Given the description of an element on the screen output the (x, y) to click on. 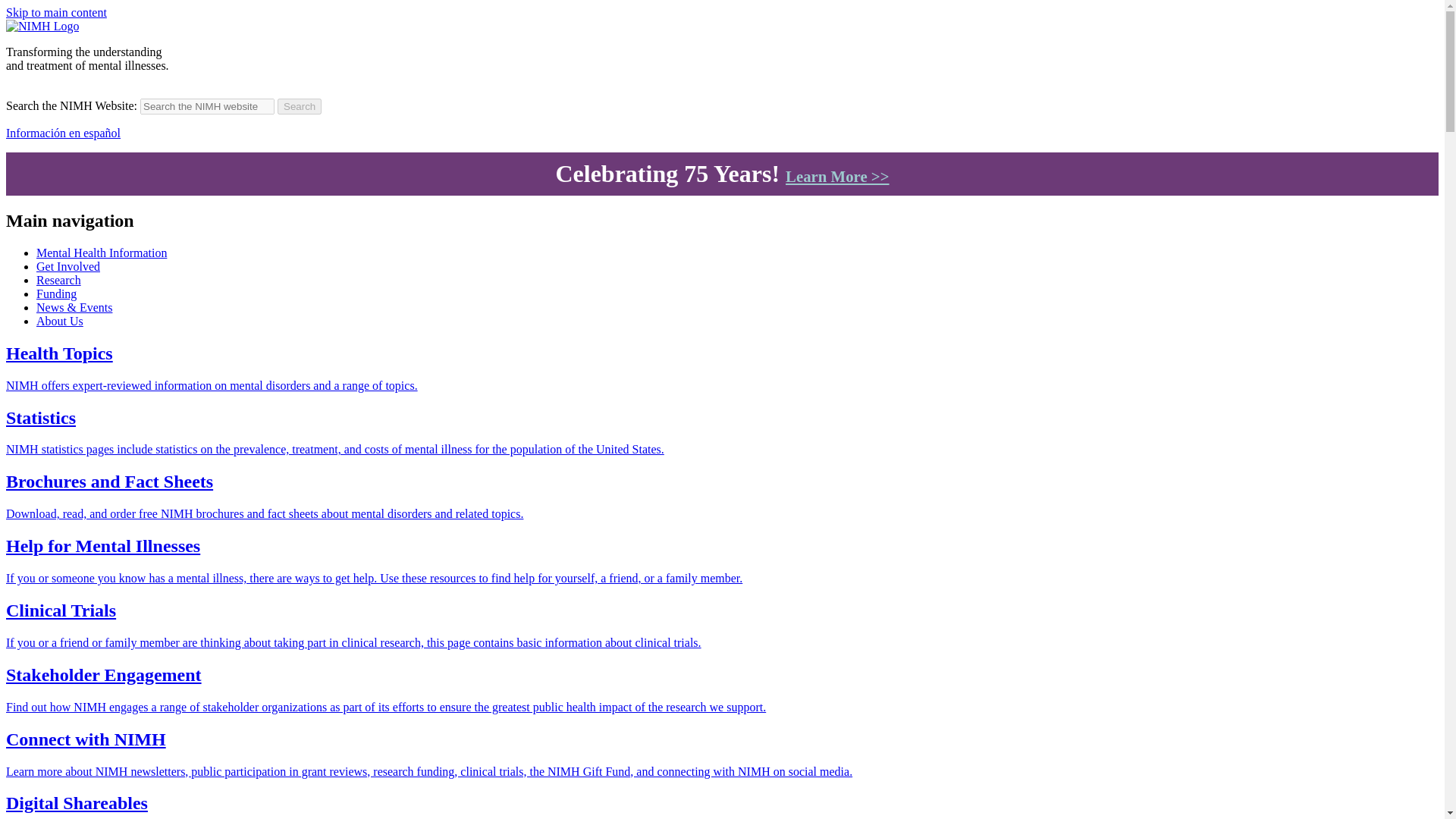
Search (299, 106)
NIMH Home (41, 25)
Research (58, 279)
Get Involved (68, 266)
Mental Health Information (101, 252)
Search (299, 106)
Skip to main content (55, 11)
About Us (59, 320)
Funding (56, 293)
